Given the description of an element on the screen output the (x, y) to click on. 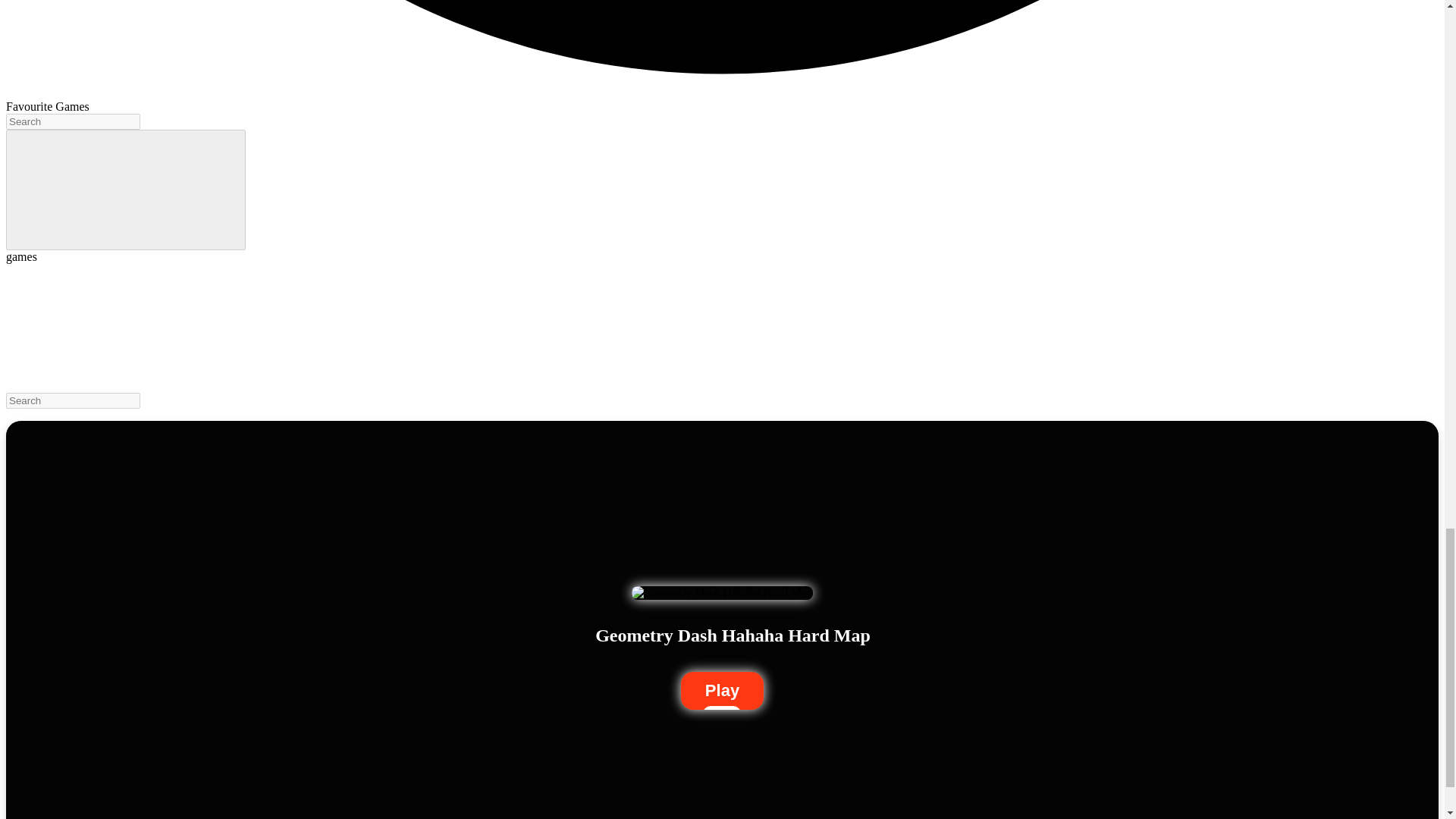
Play (721, 690)
